Given the description of an element on the screen output the (x, y) to click on. 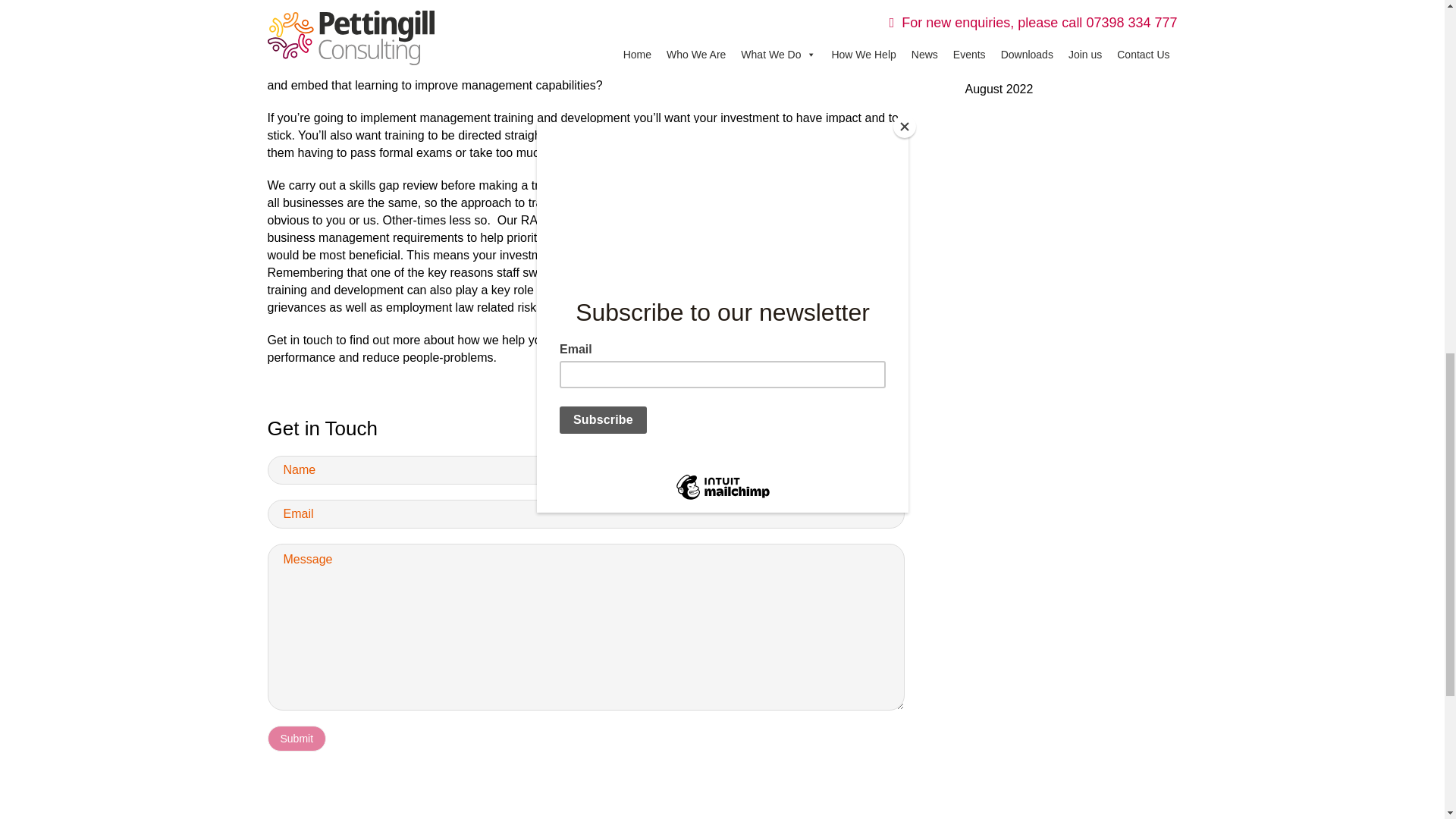
Submit (296, 738)
